Given the description of an element on the screen output the (x, y) to click on. 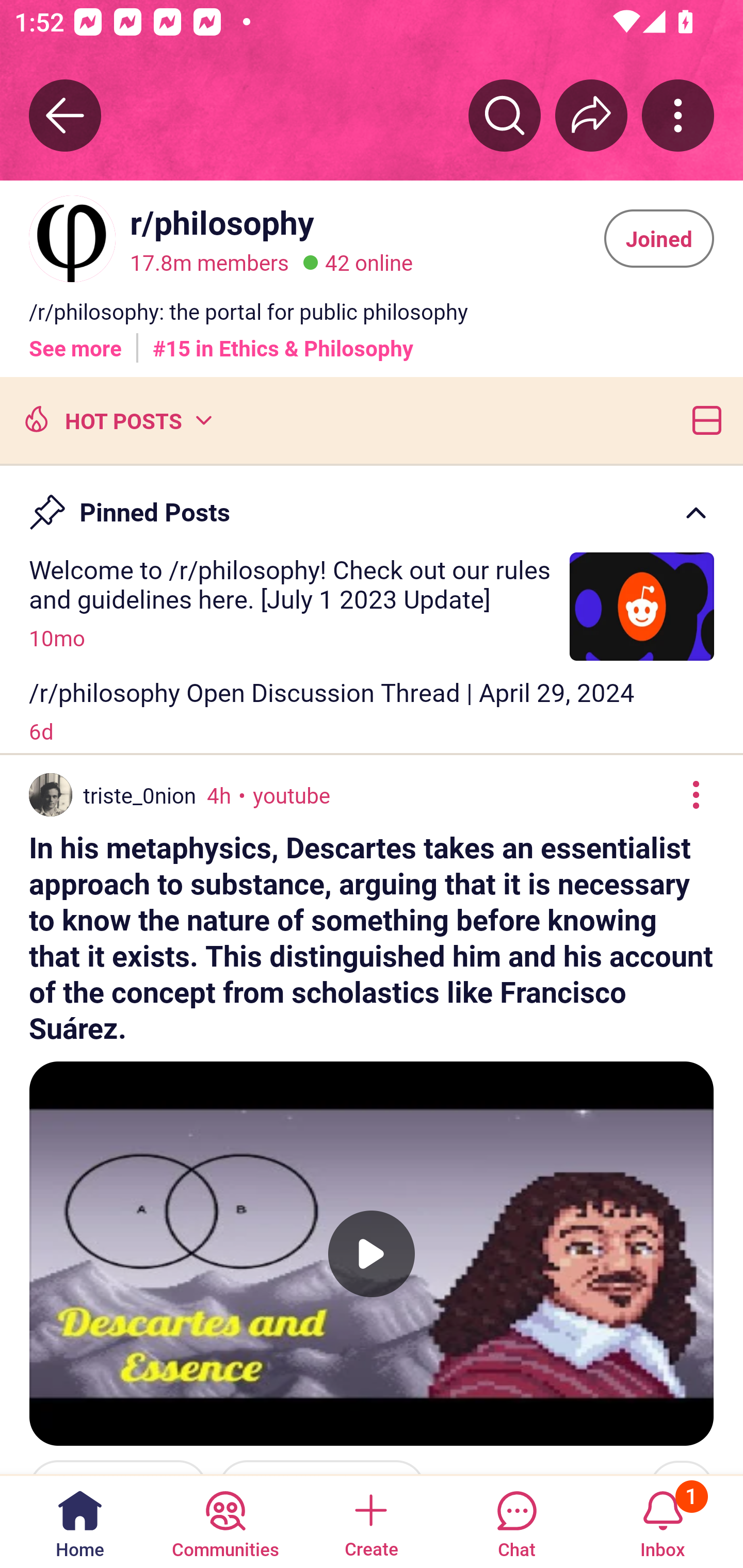
Back (64, 115)
Search r/﻿philosophy (504, 115)
Share r/﻿philosophy (591, 115)
More community actions (677, 115)
Hot posts HOT POSTS (116, 419)
Card (703, 419)
Pin Pinned Posts Caret (371, 503)
Home (80, 1520)
Communities (225, 1520)
Create a post Create (370, 1520)
Chat (516, 1520)
Inbox, has 1 notification 1 Inbox (662, 1520)
